Given the description of an element on the screen output the (x, y) to click on. 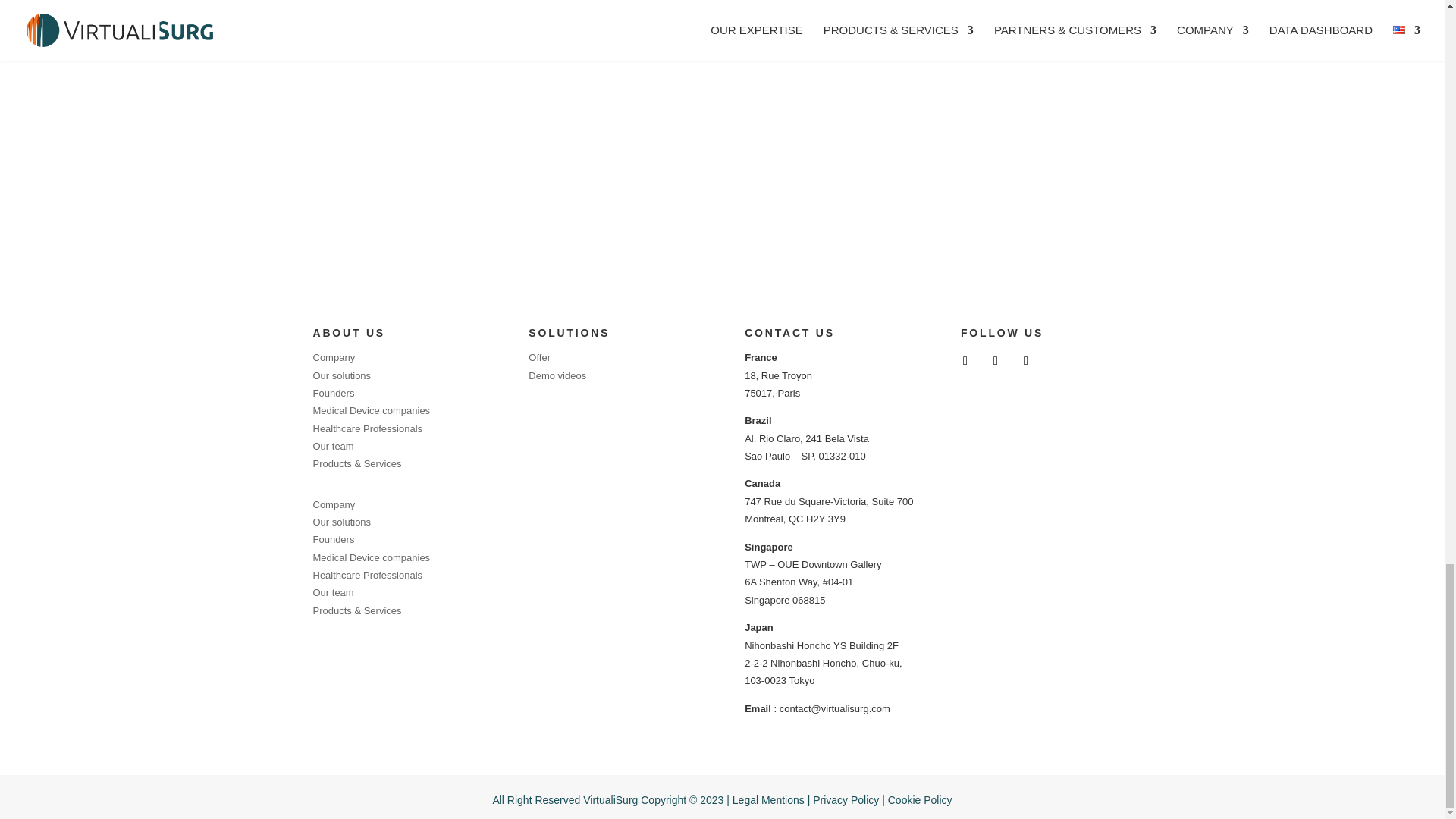
Follow on Youtube (995, 360)
Follow on LinkedIn (964, 360)
Follow on Instagram (1025, 360)
